Given the description of an element on the screen output the (x, y) to click on. 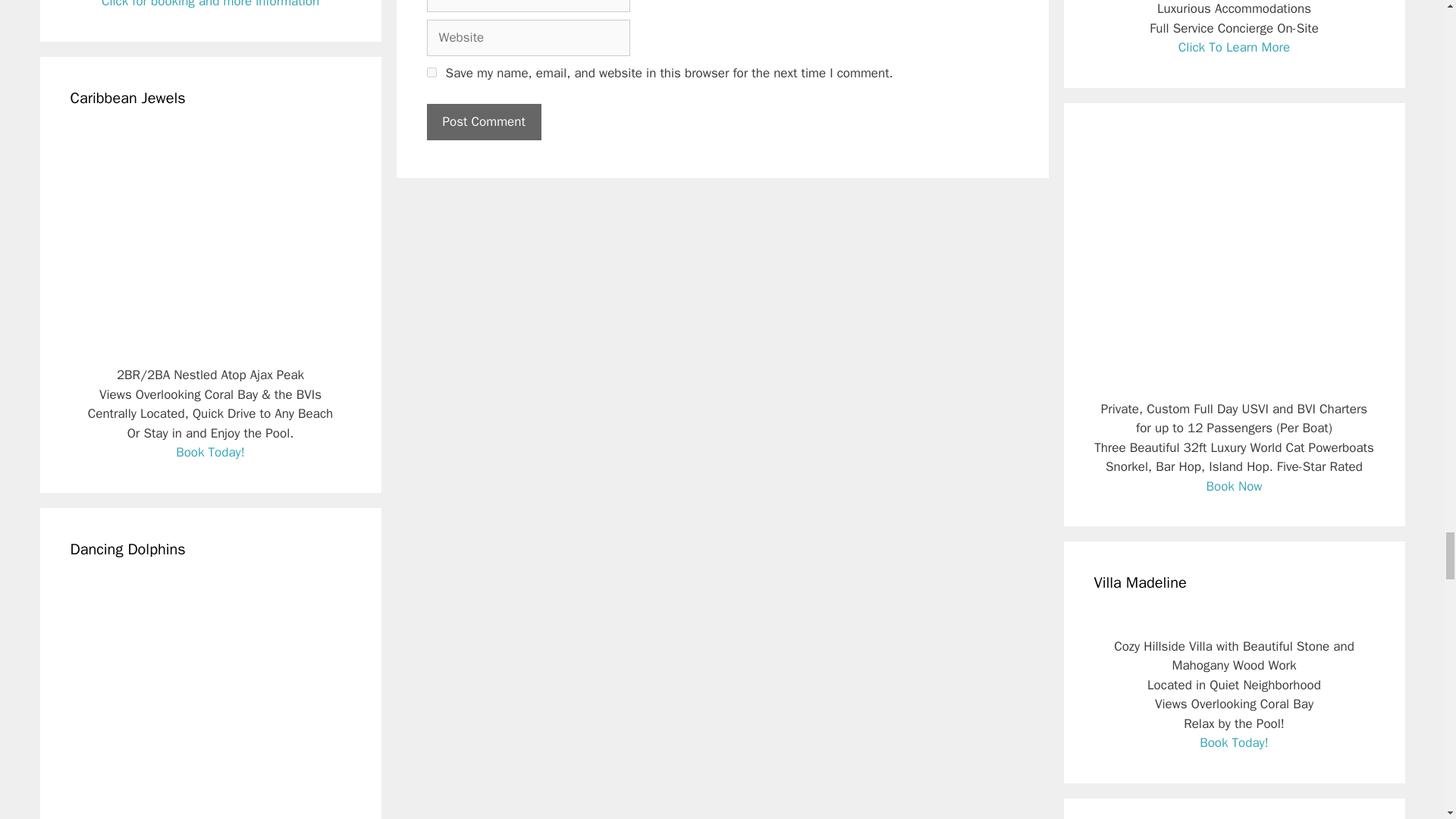
Post Comment (483, 122)
yes (430, 71)
